Given the description of an element on the screen output the (x, y) to click on. 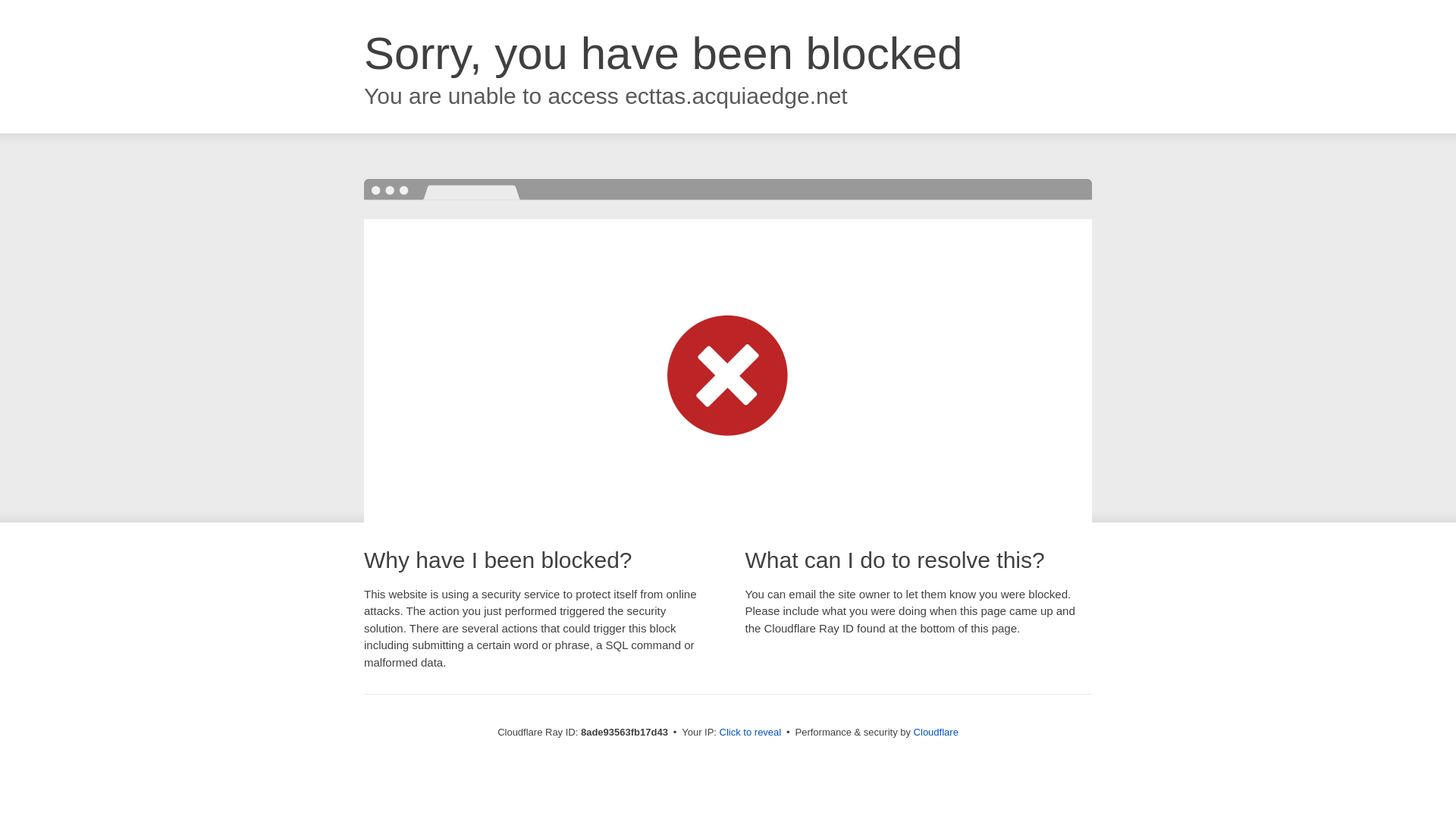
Click to reveal (750, 732)
Cloudflare (936, 731)
